Given the description of an element on the screen output the (x, y) to click on. 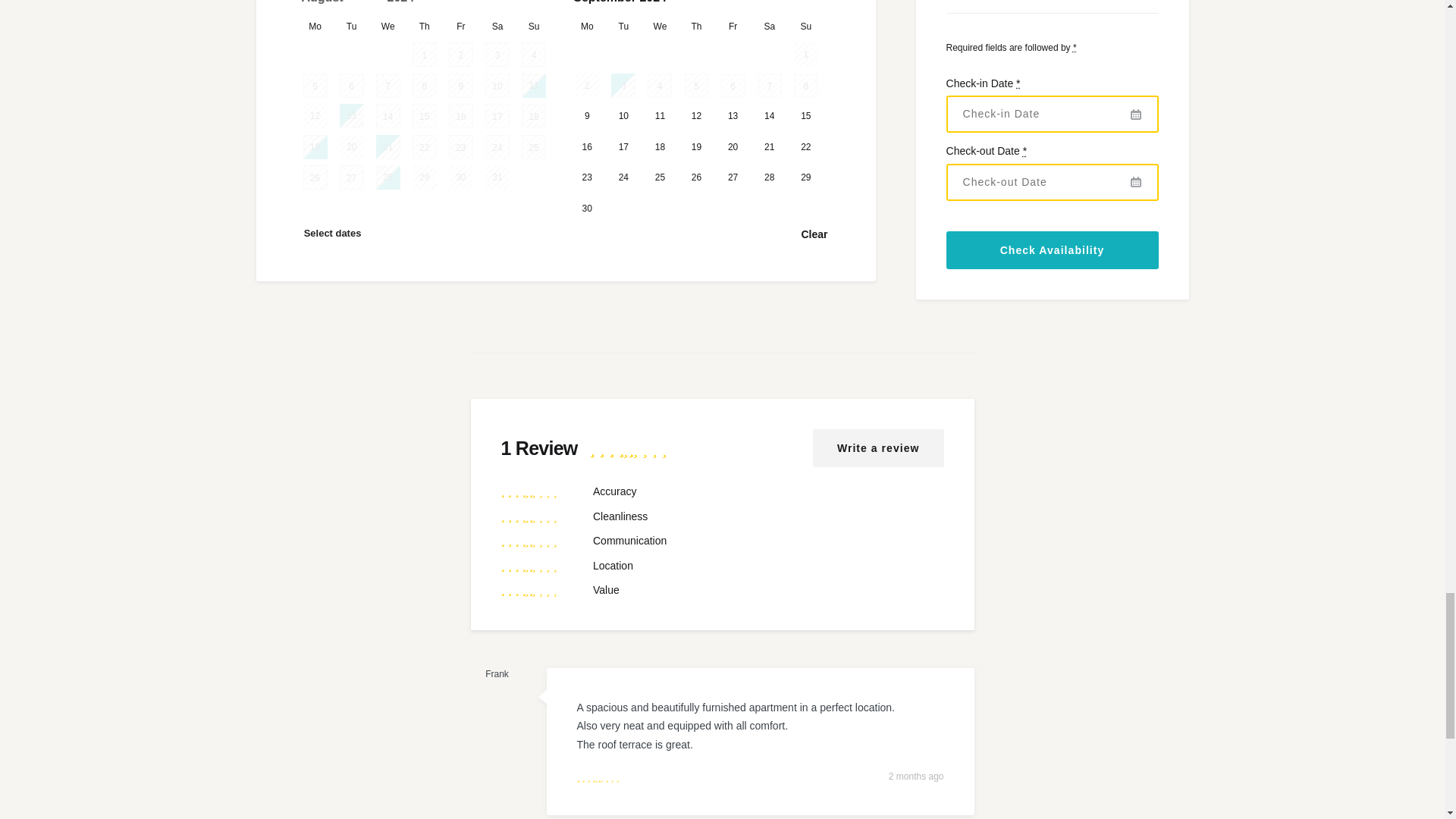
Sunday (533, 26)
Booked (424, 54)
Booked (496, 54)
Friday (460, 26)
Booked (533, 54)
Saturday (496, 26)
Monday (314, 26)
Tuesday (351, 26)
Wednesday (387, 26)
Booked (314, 84)
Thursday (424, 26)
Booked (460, 54)
Change the month (344, 6)
Change the year (411, 6)
